Given the description of an element on the screen output the (x, y) to click on. 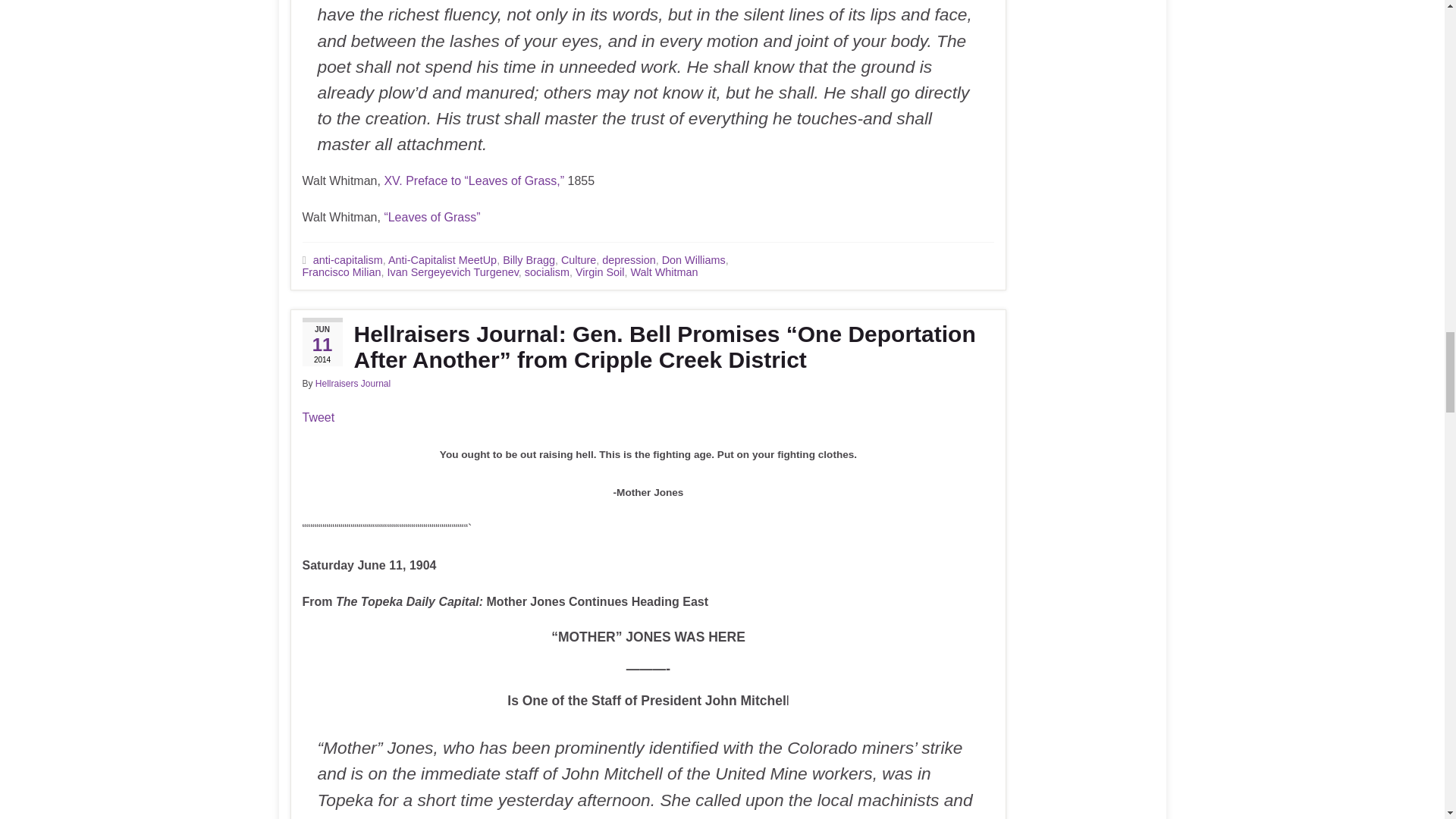
Walt Whitman (664, 272)
socialism (546, 272)
Billy Bragg (528, 259)
Anti-Capitalist MeetUp (442, 259)
depression (628, 259)
Ivan Sergeyevich Turgenev (452, 272)
Don Williams (693, 259)
Virgin Soil (599, 272)
Hellraisers Journal (352, 383)
anti-capitalism (347, 259)
Culture (577, 259)
Tweet (317, 417)
Francisco Milian (340, 272)
